Given the description of an element on the screen output the (x, y) to click on. 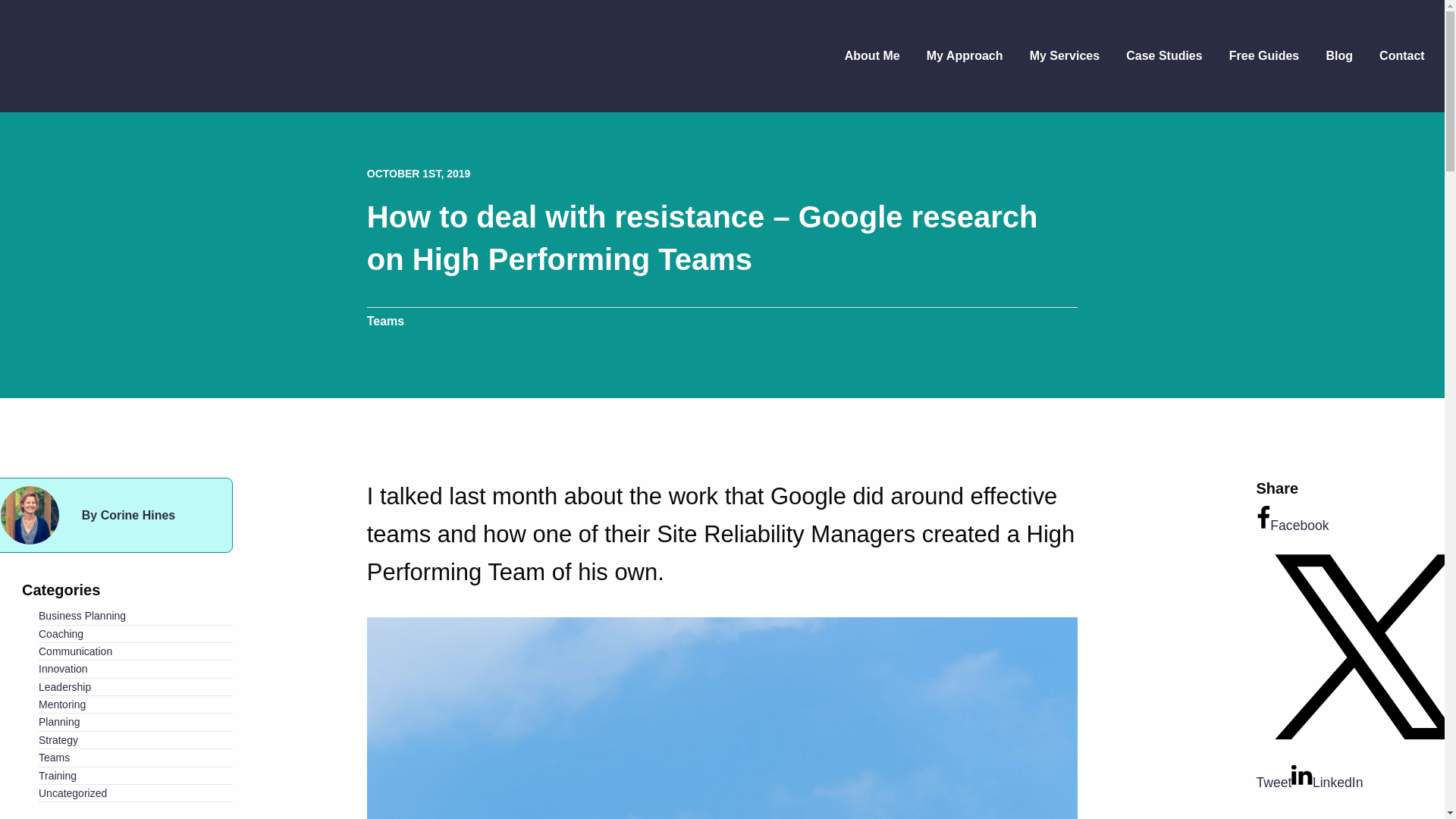
My Services (1064, 55)
Business Planning (82, 615)
Strategy (58, 739)
Contact (1402, 55)
My Approach (964, 55)
Teams (54, 757)
Training (58, 775)
Facebook (1292, 525)
By Corine Hines (127, 514)
Coaching (60, 633)
